Given the description of an element on the screen output the (x, y) to click on. 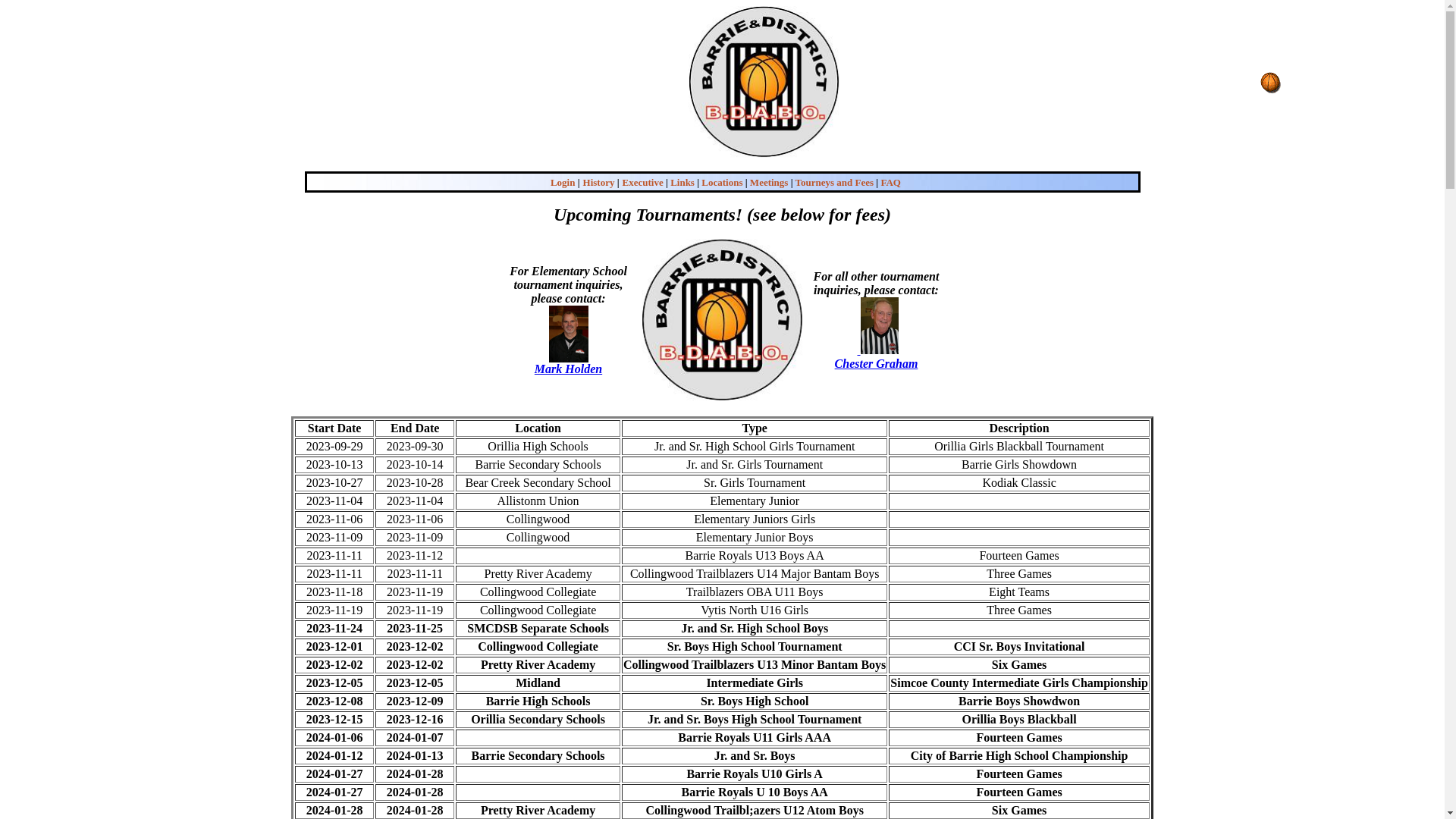
Locations | Element type: text (723, 182)
Login | Element type: text (565, 181)
FAQ Element type: text (890, 182)
History | Element type: text (601, 182)
Chester Graham Element type: text (876, 362)
Links | Element type: text (684, 182)
Executive | Element type: text (645, 182)
Meetings | Element type: text (771, 182)
Mark Holden Element type: text (568, 368)
Tourneys and Fees | Element type: text (836, 182)
